Given the description of an element on the screen output the (x, y) to click on. 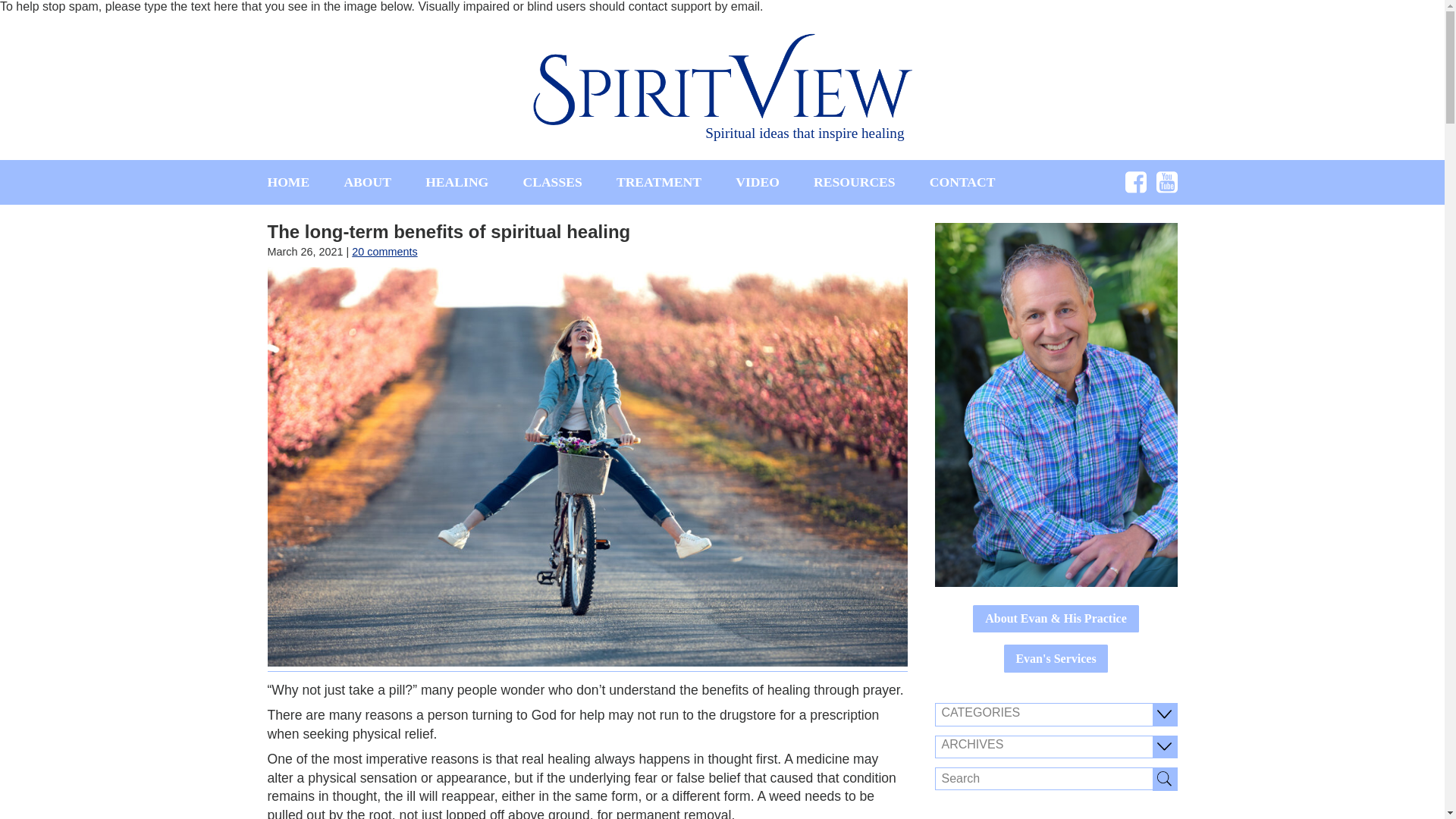
HOME (287, 181)
HEALING (456, 181)
CLASSES (551, 181)
ABOUT (367, 181)
CONTACT (962, 181)
20 comments (384, 251)
VIDEO (756, 181)
RESOURCES (854, 181)
TREATMENT (658, 181)
